Given the description of an element on the screen output the (x, y) to click on. 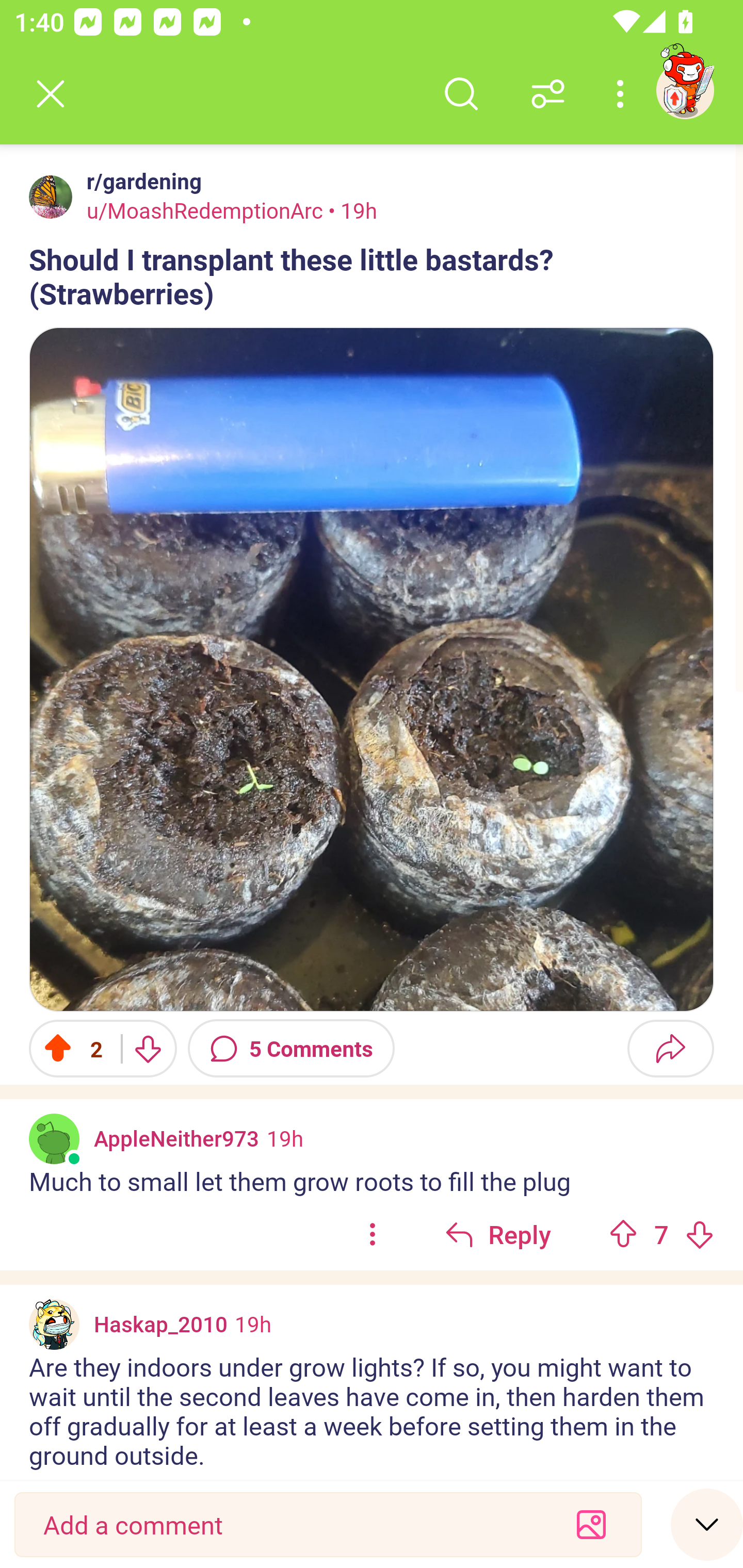
Back (50, 93)
TestAppium002 account (685, 90)
Search comments (460, 93)
Sort comments (547, 93)
More options (623, 93)
r/gardening (140, 181)
Avatar (50, 196)
u/MoashRedemptionArc (204, 210)
Image (371, 669)
Upvote 2 Downvote 5 Comments Share (371, 1048)
Downvote (146, 1048)
5 Comments (290, 1048)
Share (670, 1048)
Avatar (53, 1138)
19h (284, 1137)
Much to small let them grow roots to fill the plug (371, 1180)
options (372, 1233)
Reply (498, 1233)
Upvote 7 7 votes Downvote (661, 1233)
Upvote (622, 1233)
Downvote (699, 1233)
Custom avatar (53, 1324)
19h (252, 1324)
Speed read (706, 1524)
Add a comment (291, 1524)
Add an image (590, 1524)
